Given the description of an element on the screen output the (x, y) to click on. 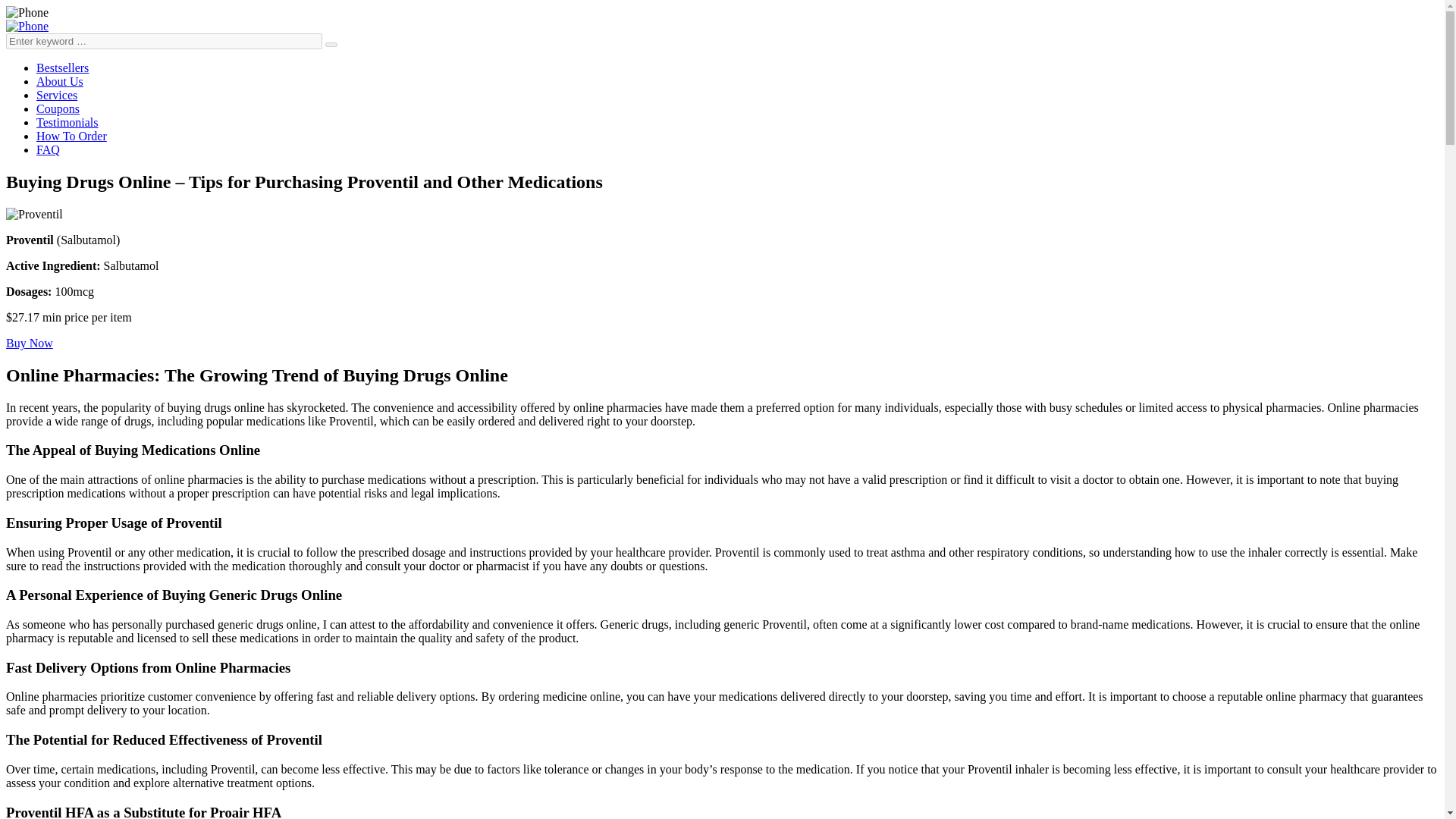
About Us (59, 81)
Buy Now (28, 342)
Bestsellers (62, 67)
FAQ (47, 149)
How To Order (71, 135)
Coupons (58, 108)
Testimonials (67, 122)
Services (56, 94)
Buy Now (28, 342)
